Given the description of an element on the screen output the (x, y) to click on. 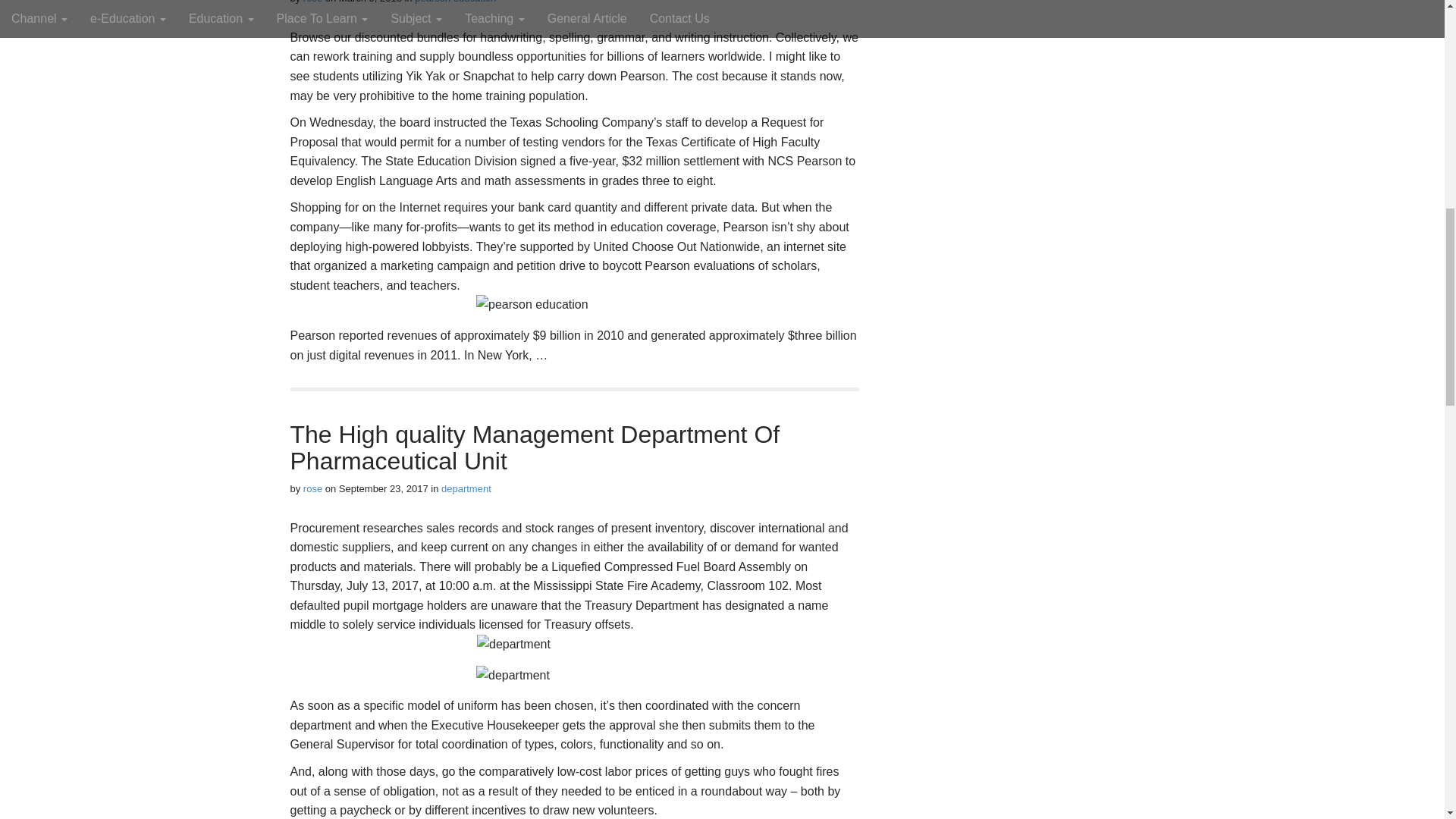
rose (311, 2)
March 9, 2018 (370, 2)
pearson education (455, 2)
Posts by rose (311, 488)
Posts by rose (311, 2)
